Given the description of an element on the screen output the (x, y) to click on. 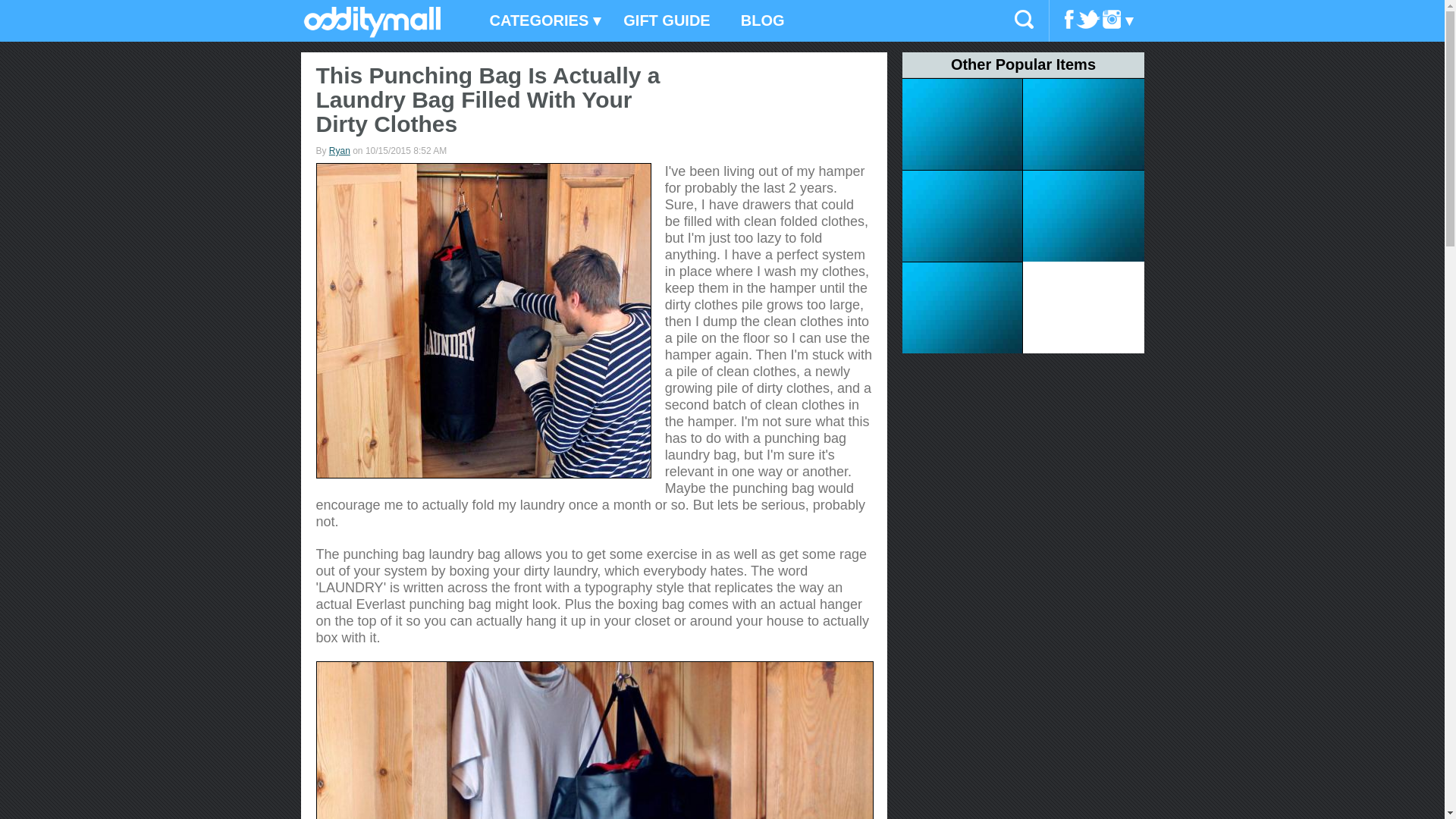
Ryan (339, 150)
BLOG (762, 20)
CATEGORIES (541, 20)
Unique Gifts - Unusual Gift Ideas (371, 32)
GIFT GUIDE (666, 20)
